Given the description of an element on the screen output the (x, y) to click on. 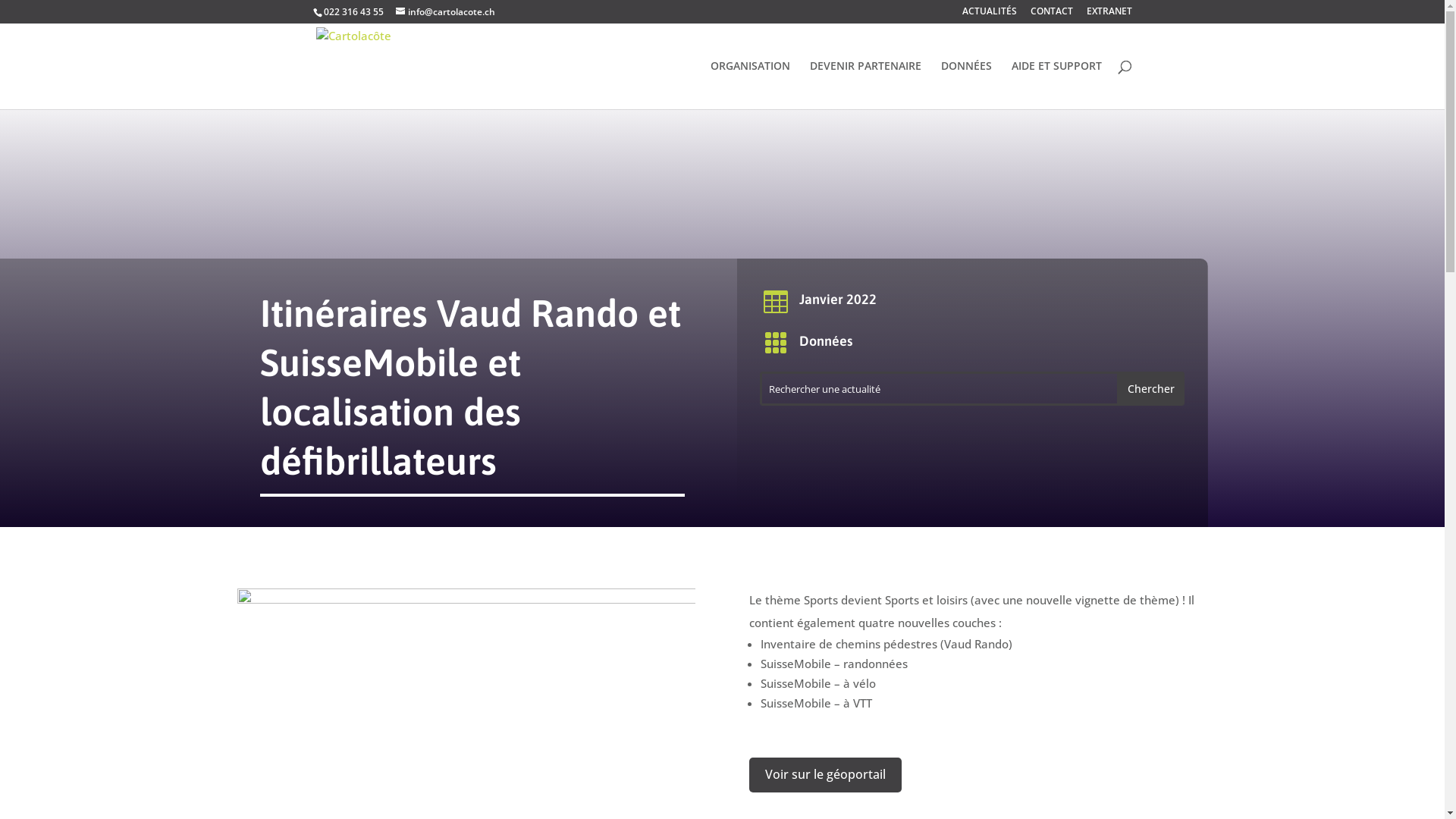
DEVENIR PARTENAIRE Element type: text (865, 84)
ORGANISATION Element type: text (749, 84)
info@cartolacote.ch Element type: text (445, 11)
EXTRANET Element type: text (1108, 14)
CONTACT Element type: text (1050, 14)
AIDE ET SUPPORT Element type: text (1056, 84)
Chercher Element type: text (1150, 388)
